Given the description of an element on the screen output the (x, y) to click on. 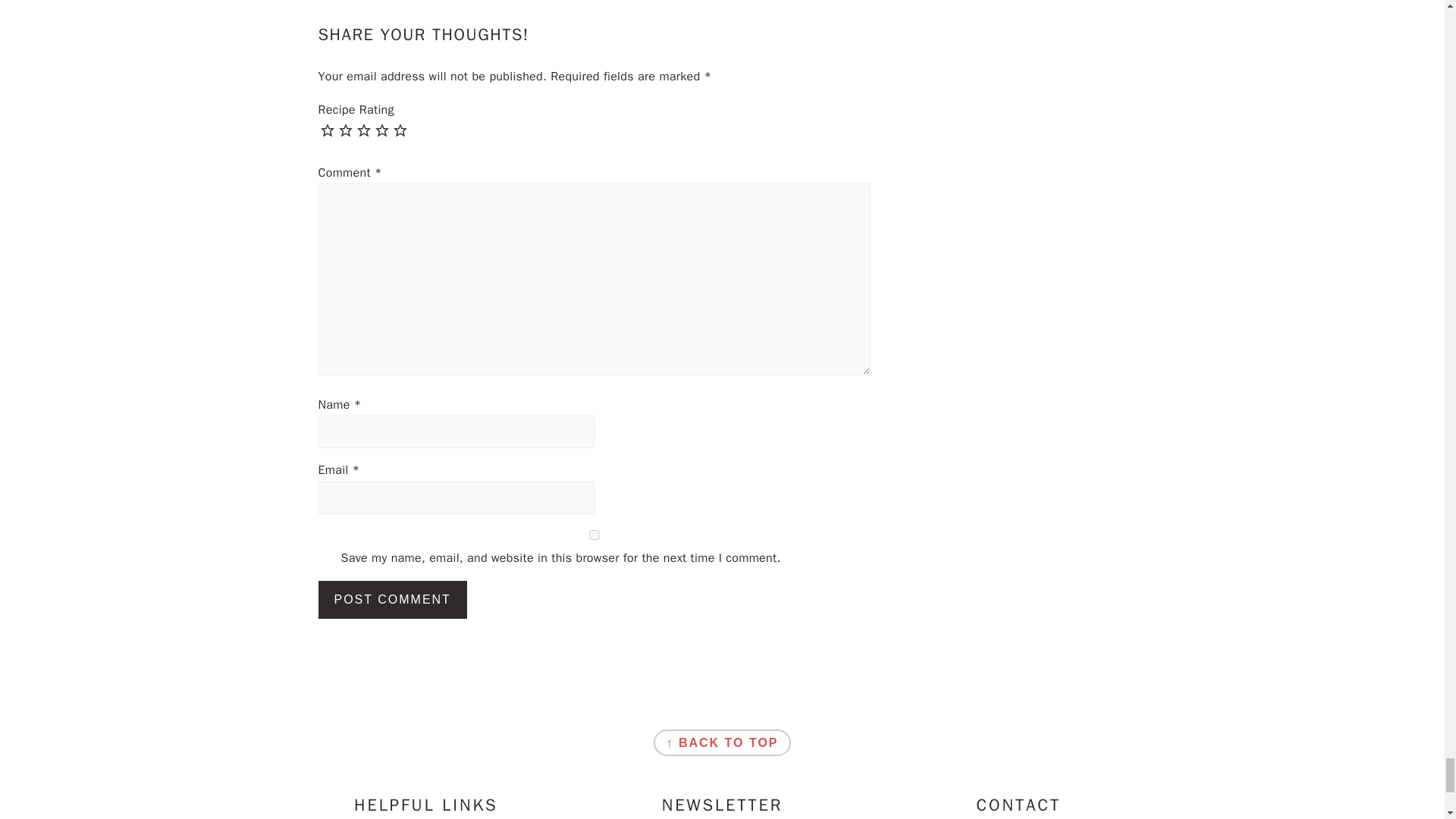
yes (594, 534)
Post Comment (392, 599)
